Given the description of an element on the screen output the (x, y) to click on. 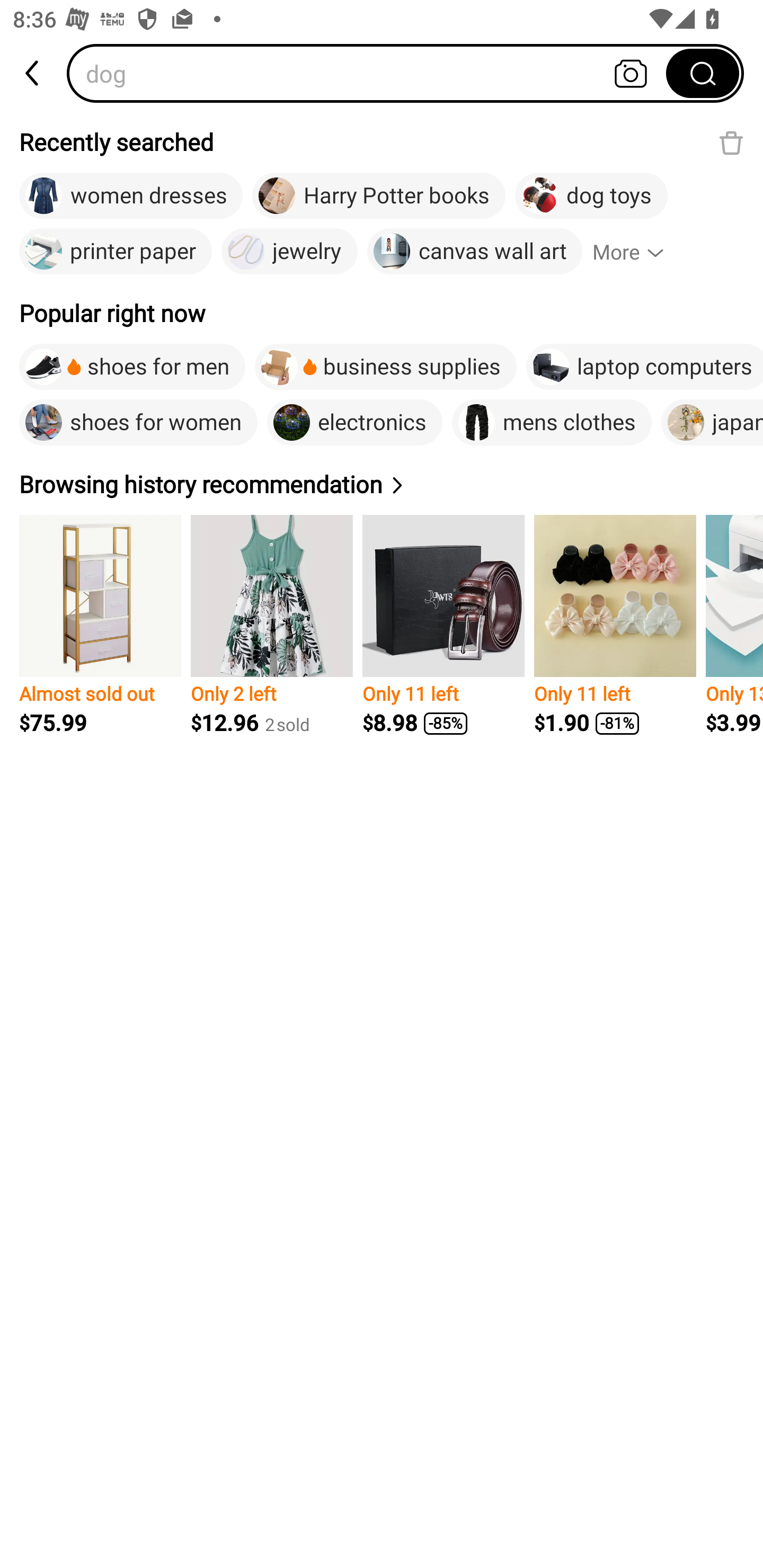
back (33, 72)
dog (372, 73)
Search by photo (630, 73)
Delete recent search (731, 142)
women dresses (130, 195)
Harry Potter books (378, 195)
dog toys (591, 195)
printer paper (115, 251)
jewelry (289, 251)
canvas wall art (474, 251)
More (636, 251)
shoes for men (132, 366)
business supplies (385, 366)
laptop computers (644, 366)
shoes for women (138, 422)
electronics (354, 422)
mens clothes (551, 422)
japanese home decor (712, 422)
Browsing history recommendation (213, 484)
